Given the description of an element on the screen output the (x, y) to click on. 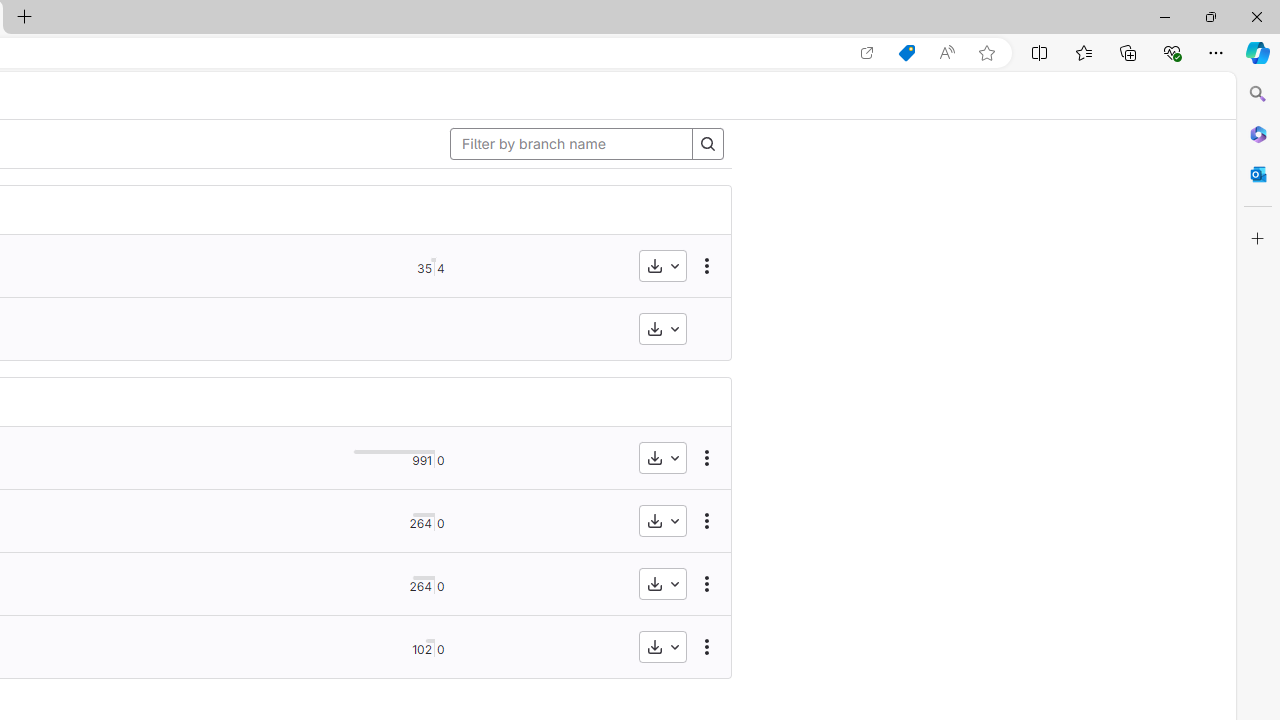
Customize (1258, 239)
Add this page to favorites (Ctrl+D) (986, 53)
Restore (1210, 16)
Browser essentials (1171, 52)
Close (1256, 16)
Download (662, 646)
More actions (707, 646)
Minimize (1164, 16)
New Tab (24, 17)
Collections (1128, 52)
Shopping in Microsoft Edge (906, 53)
Microsoft 365 (1258, 133)
Settings and more (Alt+F) (1215, 52)
Close Outlook pane (1258, 174)
Search (1258, 94)
